Given the description of an element on the screen output the (x, y) to click on. 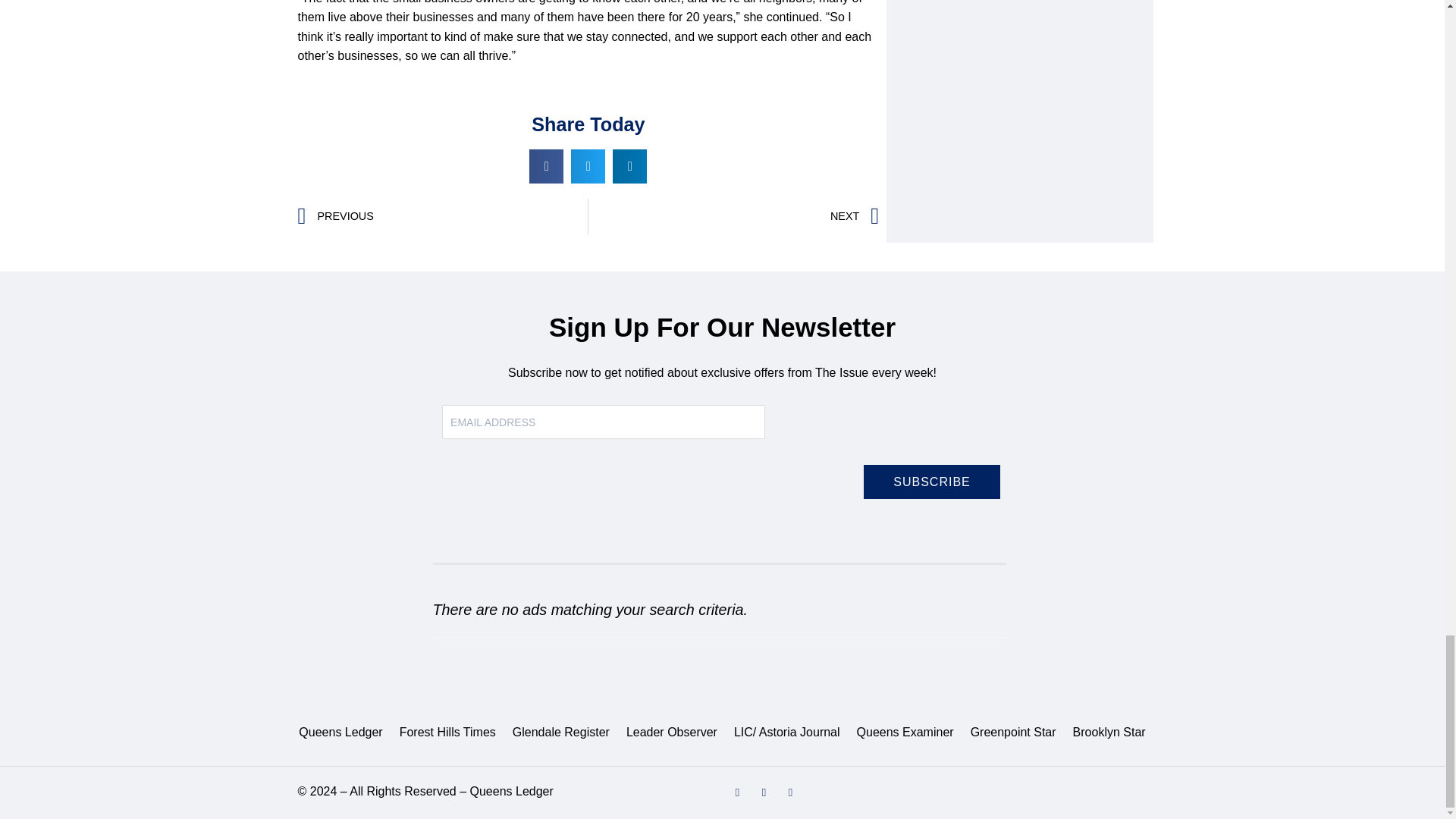
Subscribe (931, 481)
